Given the description of an element on the screen output the (x, y) to click on. 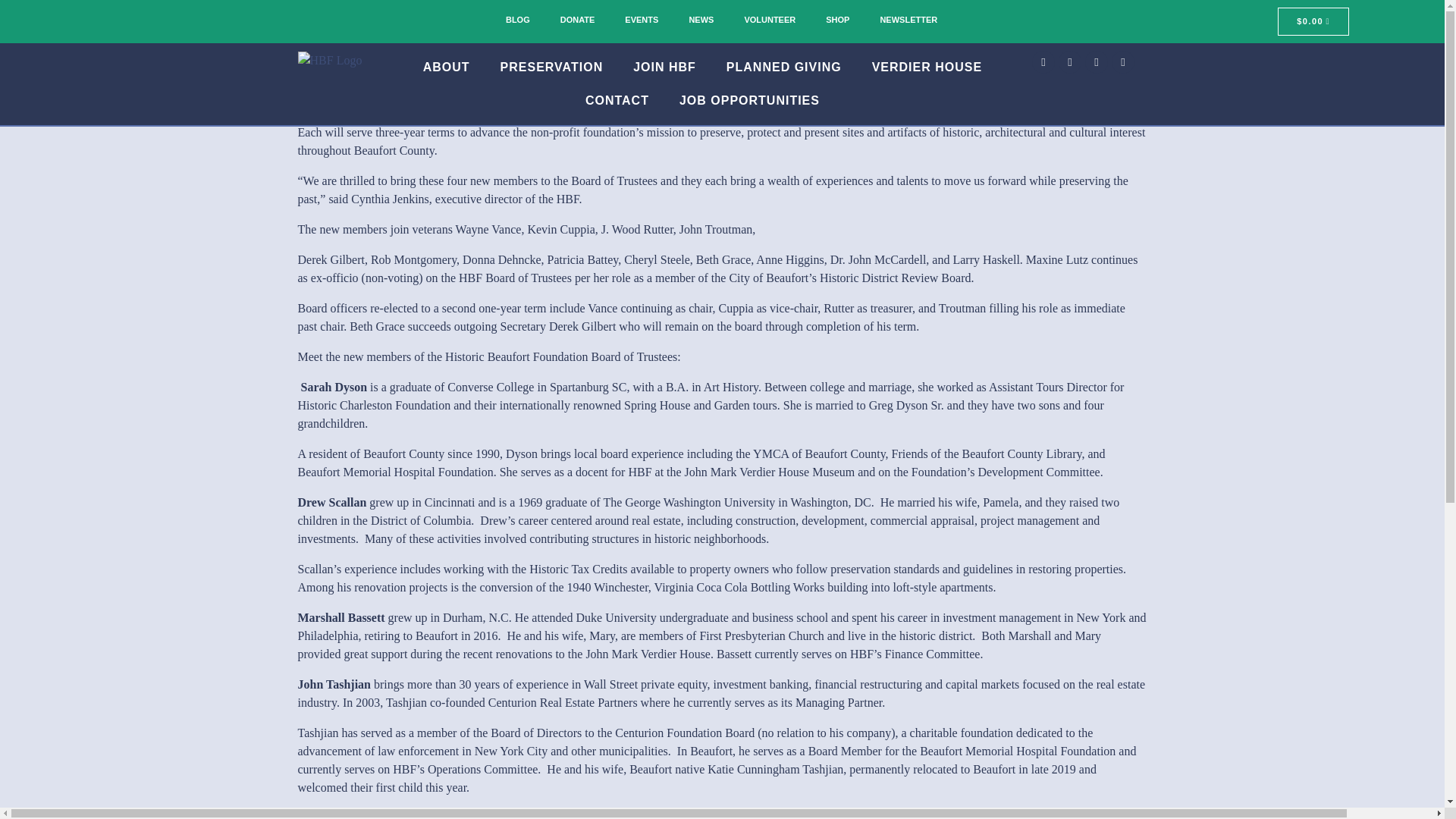
EVENTS (641, 19)
VERDIER HOUSE (927, 67)
SHOP (837, 19)
HBF Logo (329, 60)
BLOG (517, 19)
PRESERVATION (551, 67)
NEWSLETTER (908, 19)
PLANNED GIVING (784, 67)
NEWS (700, 19)
JOIN HBF (664, 67)
